Given the description of an element on the screen output the (x, y) to click on. 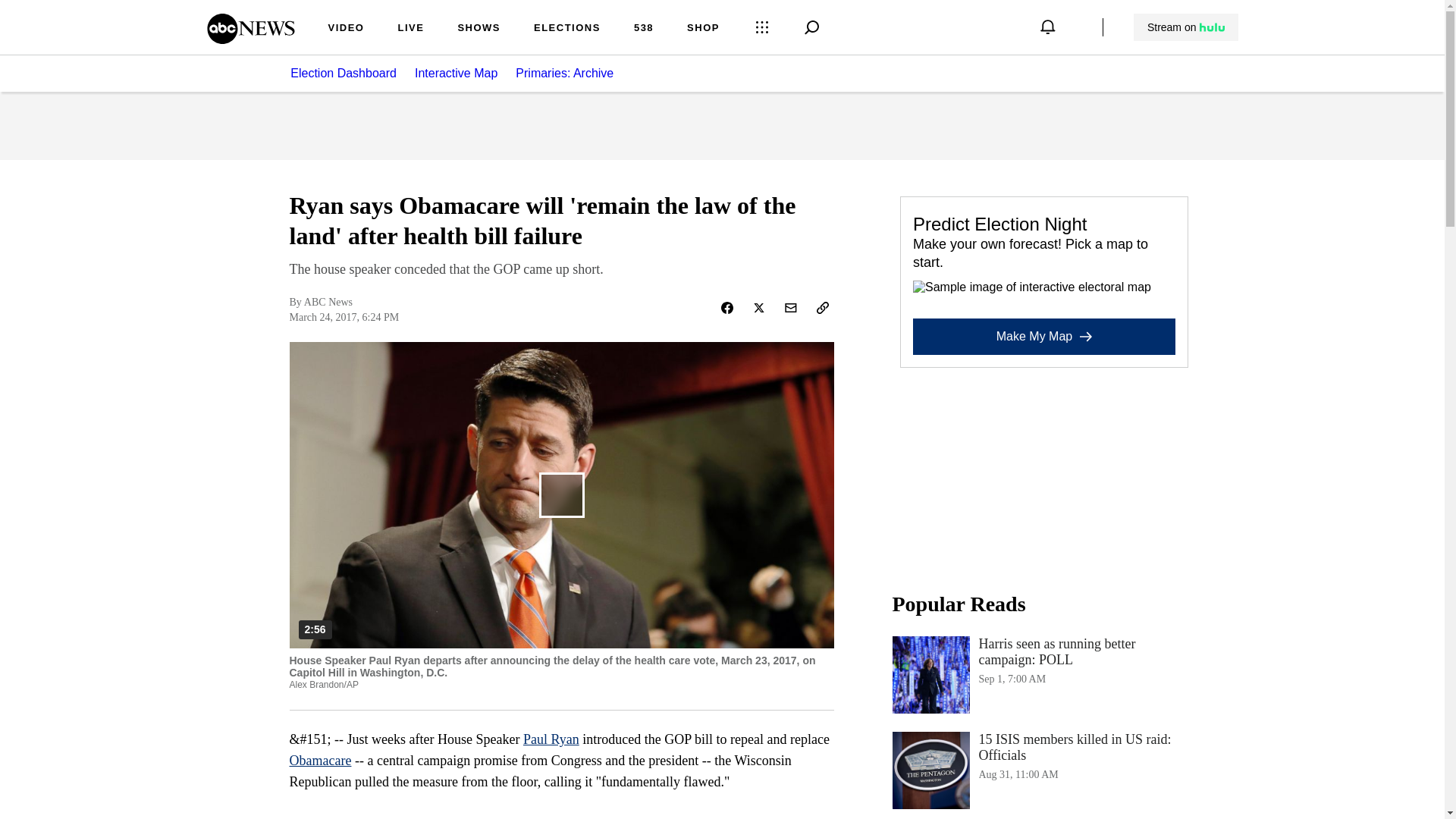
LIVE (410, 28)
Stream on (1185, 27)
Primaries: Archive (573, 73)
ABC News (250, 38)
538 (643, 28)
Stream on (1186, 26)
Election Dashboard (1043, 674)
SHOP (342, 73)
